Given the description of an element on the screen output the (x, y) to click on. 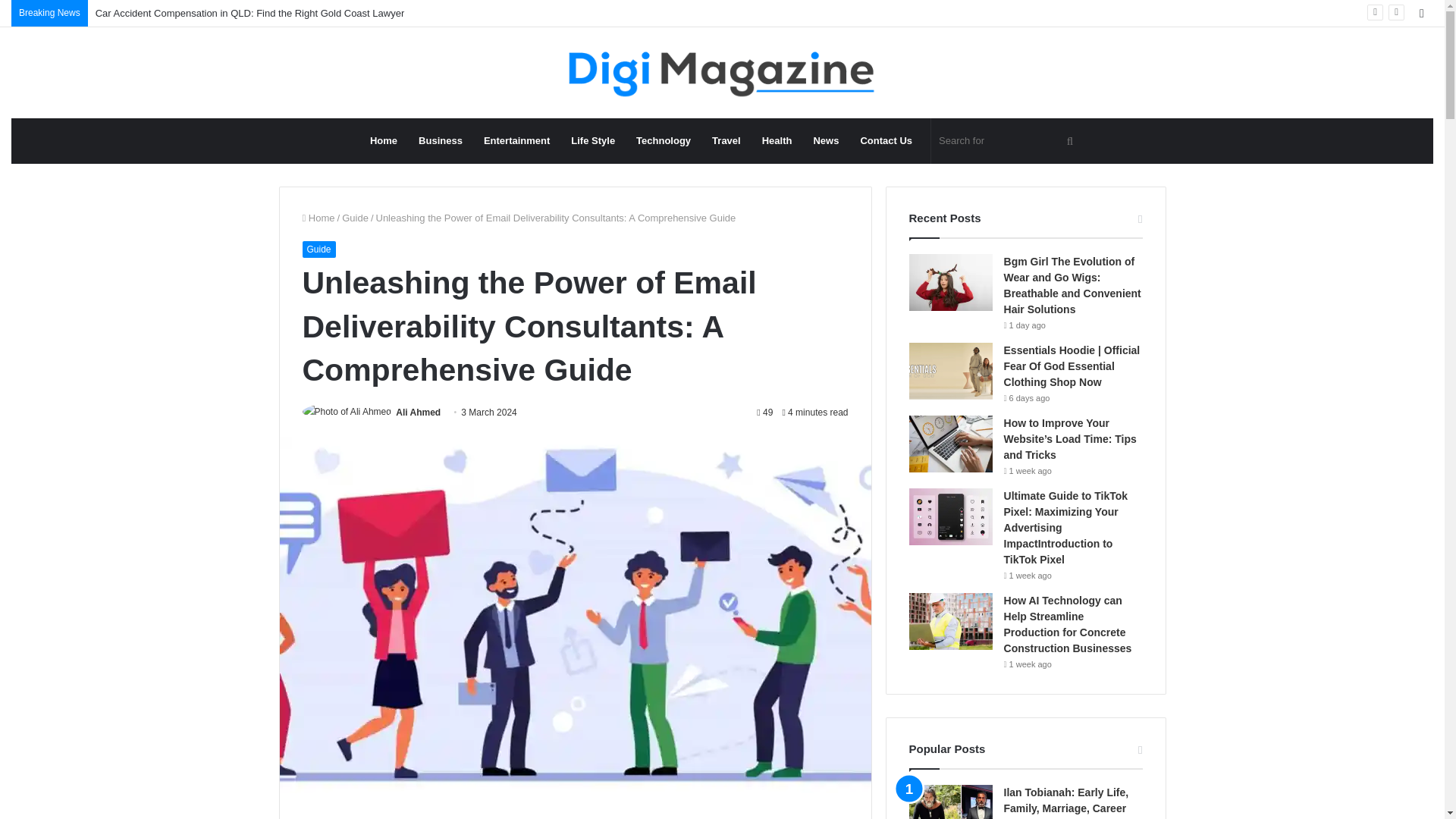
Life Style (593, 140)
Technology (663, 140)
Ali Ahmed (418, 412)
Business (440, 140)
Guide (355, 217)
Search for (1069, 140)
Guide (317, 248)
Contact Us (885, 140)
Home (317, 217)
Ali Ahmed (418, 412)
Health (777, 140)
Random Article (1421, 13)
Search for (1007, 140)
Home (383, 140)
